Given the description of an element on the screen output the (x, y) to click on. 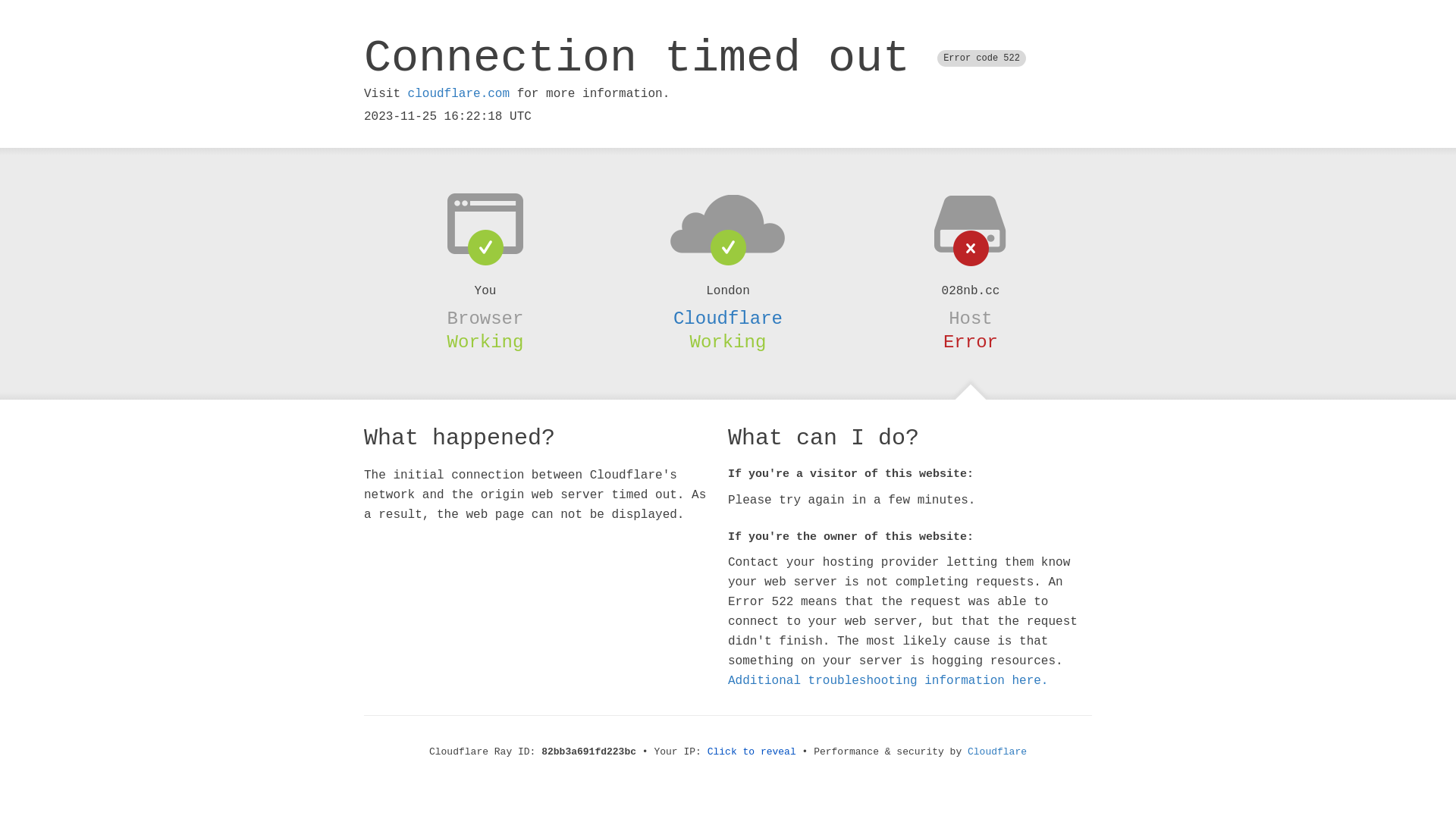
Click to reveal Element type: text (751, 751)
Cloudflare Element type: text (727, 318)
Cloudflare Element type: text (996, 751)
cloudflare.com Element type: text (458, 93)
Additional troubleshooting information here. Element type: text (888, 680)
